Given the description of an element on the screen output the (x, y) to click on. 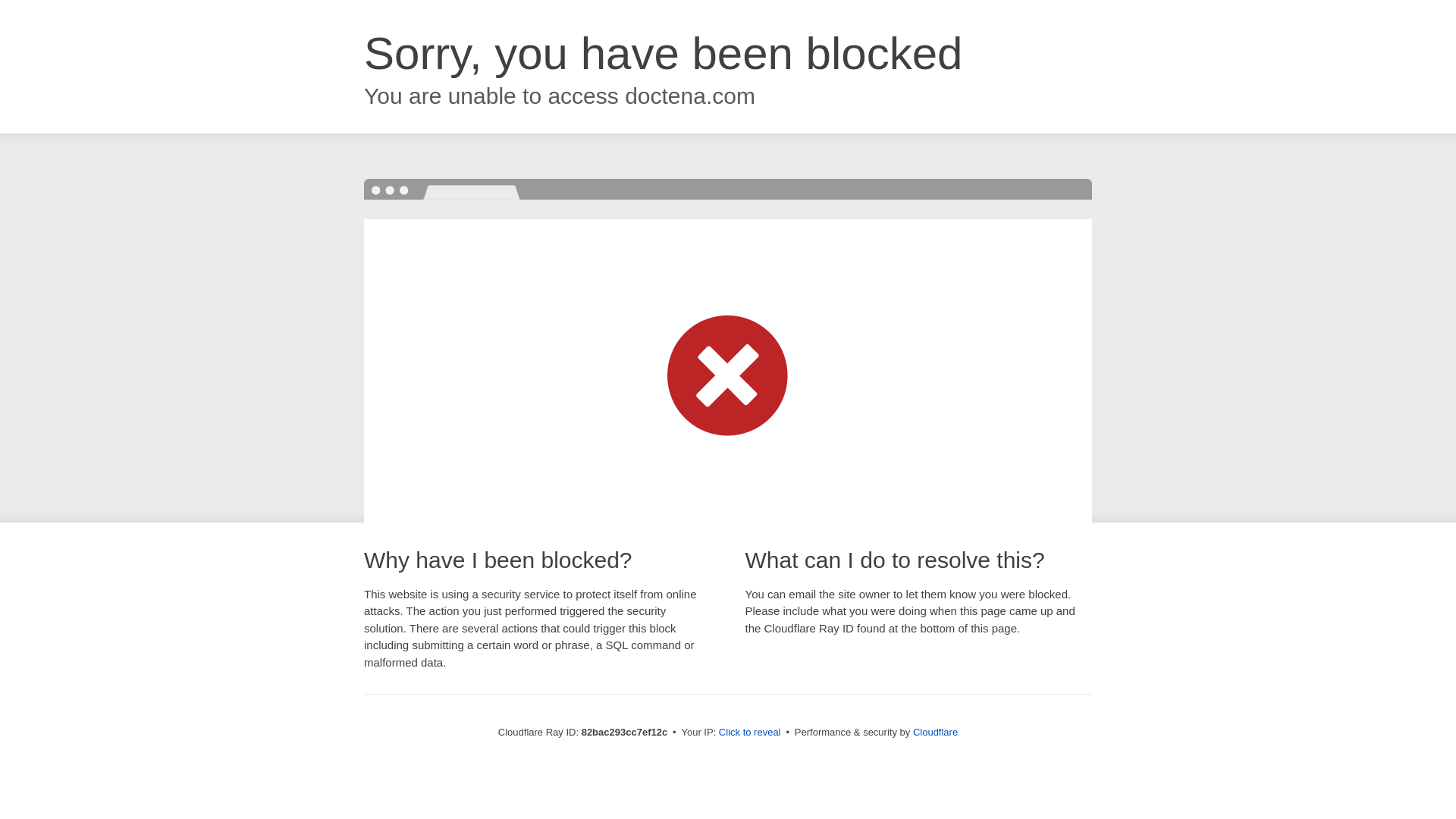
Click to reveal Element type: text (749, 732)
Cloudflare Element type: text (935, 731)
